Given the description of an element on the screen output the (x, y) to click on. 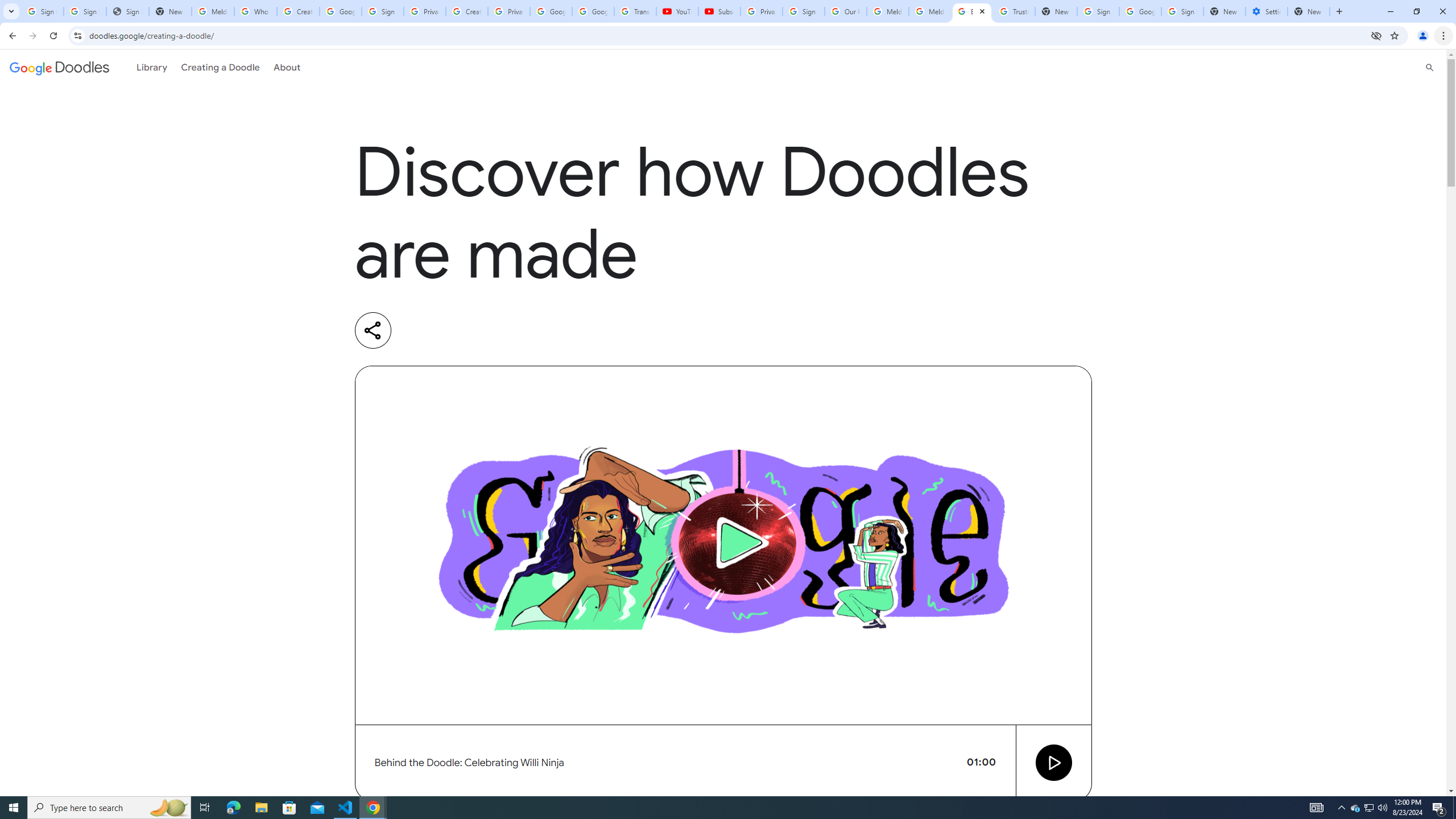
Subscriptions - YouTube (719, 11)
Library (151, 67)
About (286, 67)
Share on Linkedin (419, 330)
New Tab (1224, 11)
Share (372, 330)
Creating a Doodle (220, 67)
Sign In - USA TODAY (127, 11)
